Given the description of an element on the screen output the (x, y) to click on. 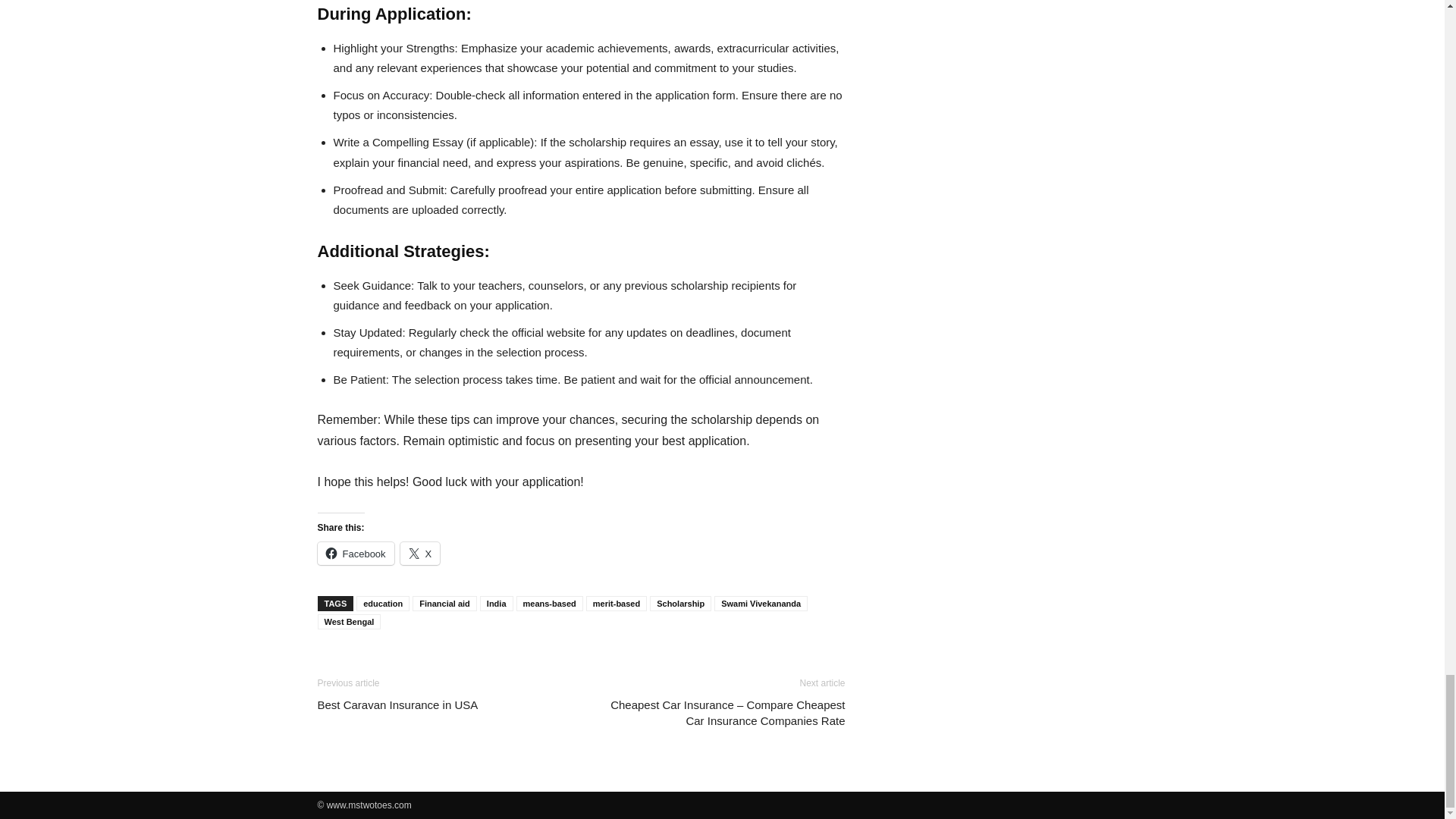
Scholarship (680, 603)
bottomFacebookLike (430, 662)
X (420, 553)
Swami Vivekananda (761, 603)
merit-based (616, 603)
West Bengal (348, 621)
Click to share on X (420, 553)
Facebook (355, 553)
Best Caravan Insurance in USA (397, 704)
Click to share on Facebook (355, 553)
Financial aid (444, 603)
education (382, 603)
means-based (549, 603)
India (496, 603)
